Given the description of an element on the screen output the (x, y) to click on. 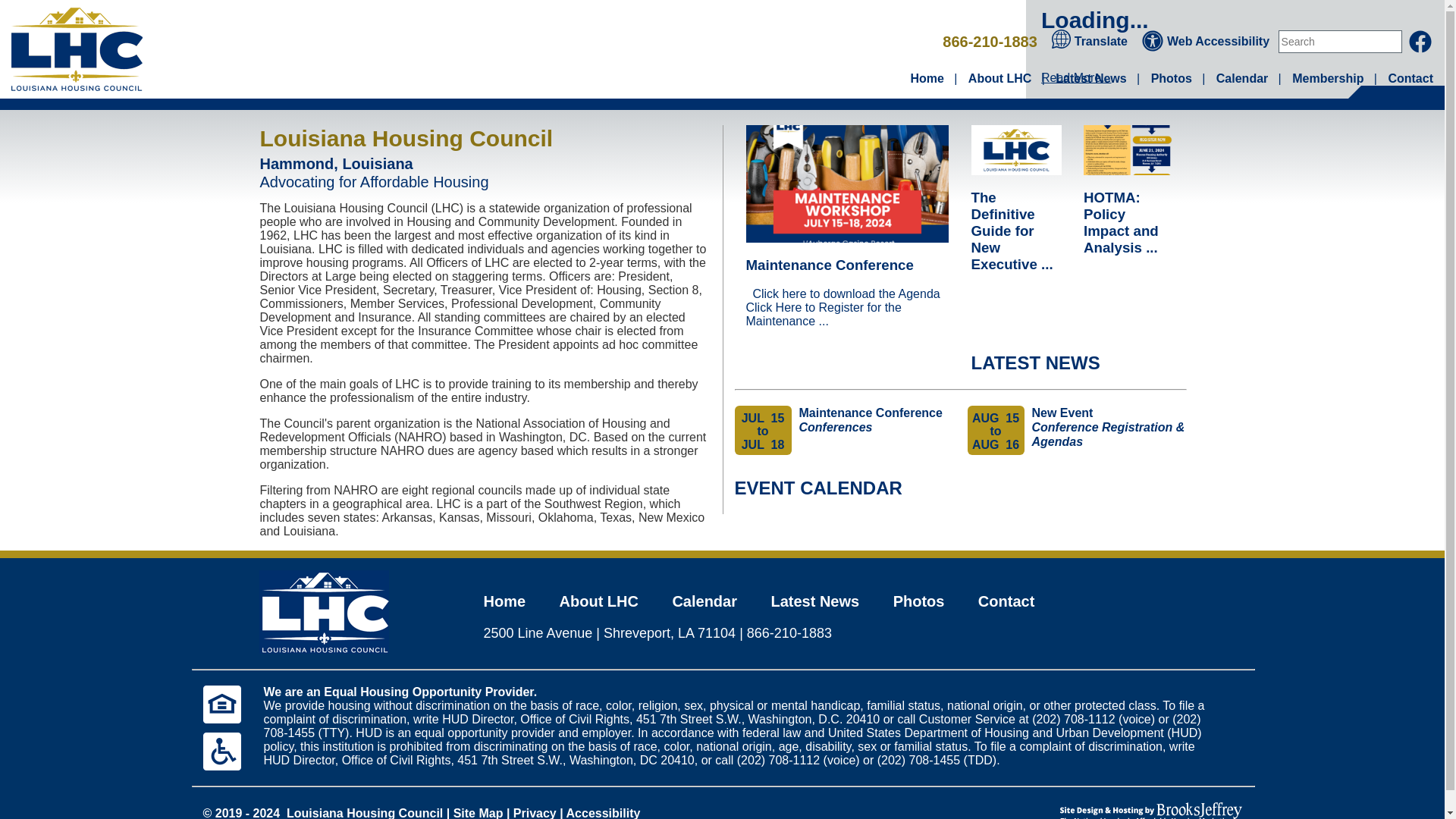
Translate (1091, 41)
Home (926, 78)
About LHC (1000, 78)
Calendar (1241, 78)
Web Accessibility (1206, 41)
Latest News (1090, 78)
Photos (1171, 78)
866-210-1883 (989, 41)
